Given the description of an element on the screen output the (x, y) to click on. 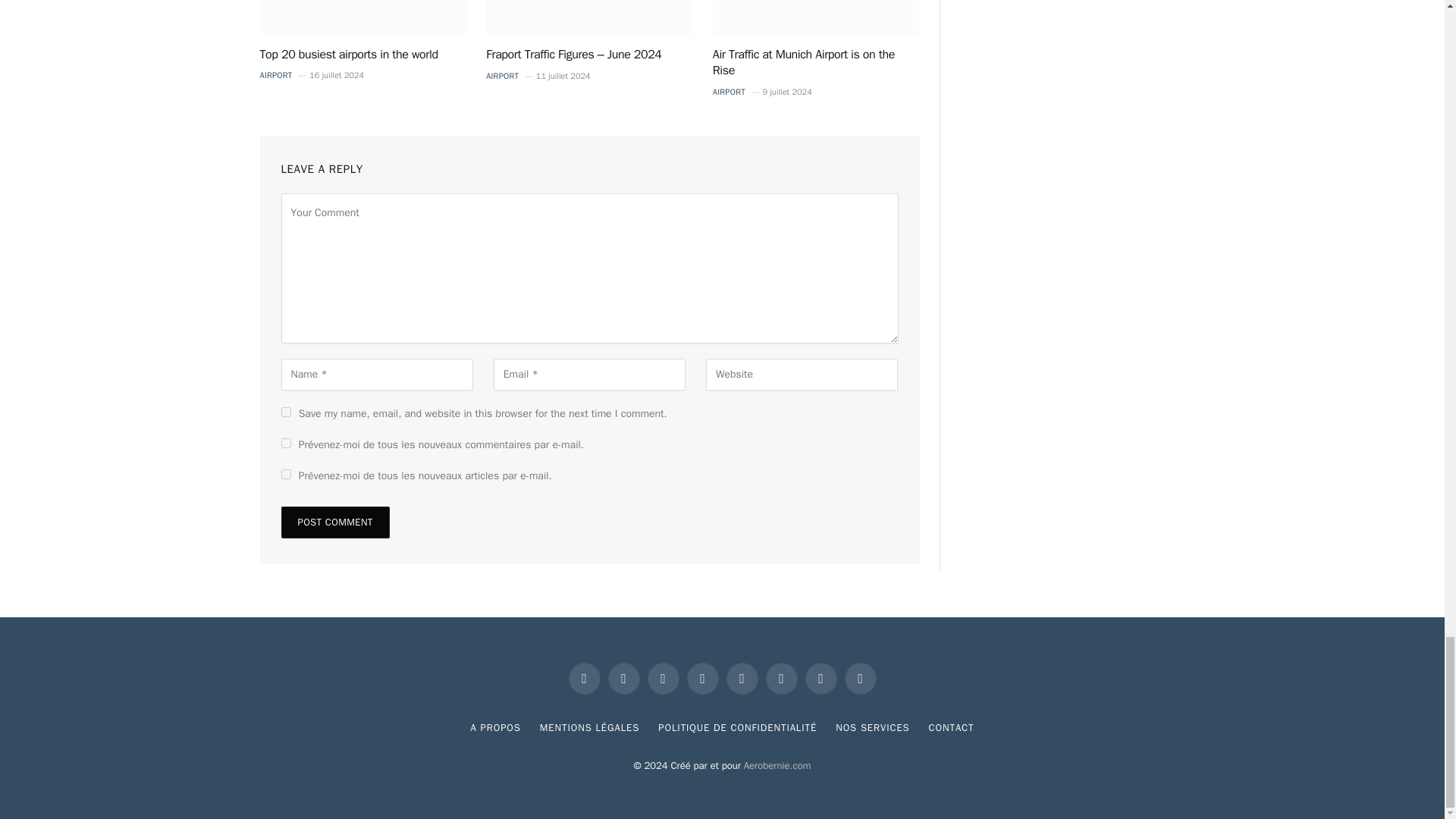
Post Comment (334, 522)
yes (285, 411)
subscribe (285, 474)
subscribe (285, 442)
